Given the description of an element on the screen output the (x, y) to click on. 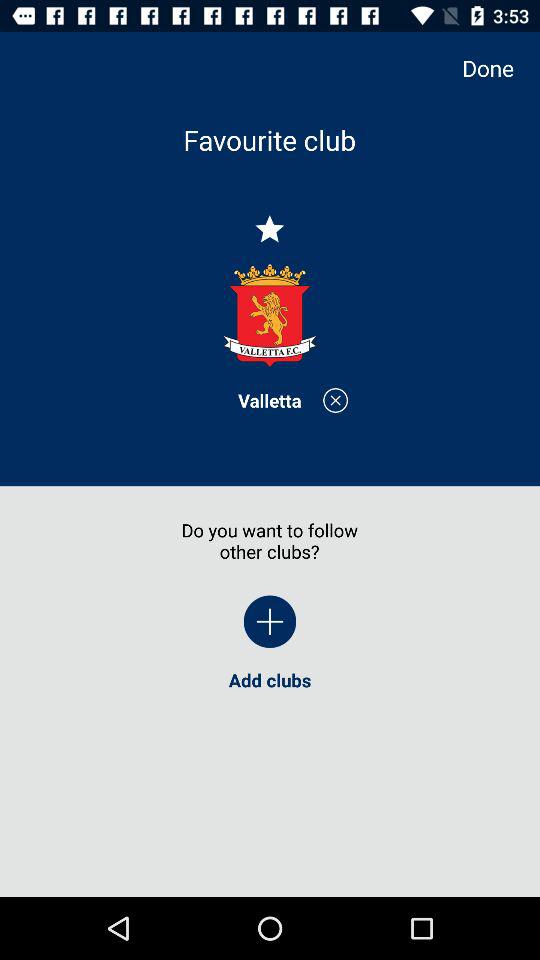
launch done item (497, 68)
